Given the description of an element on the screen output the (x, y) to click on. 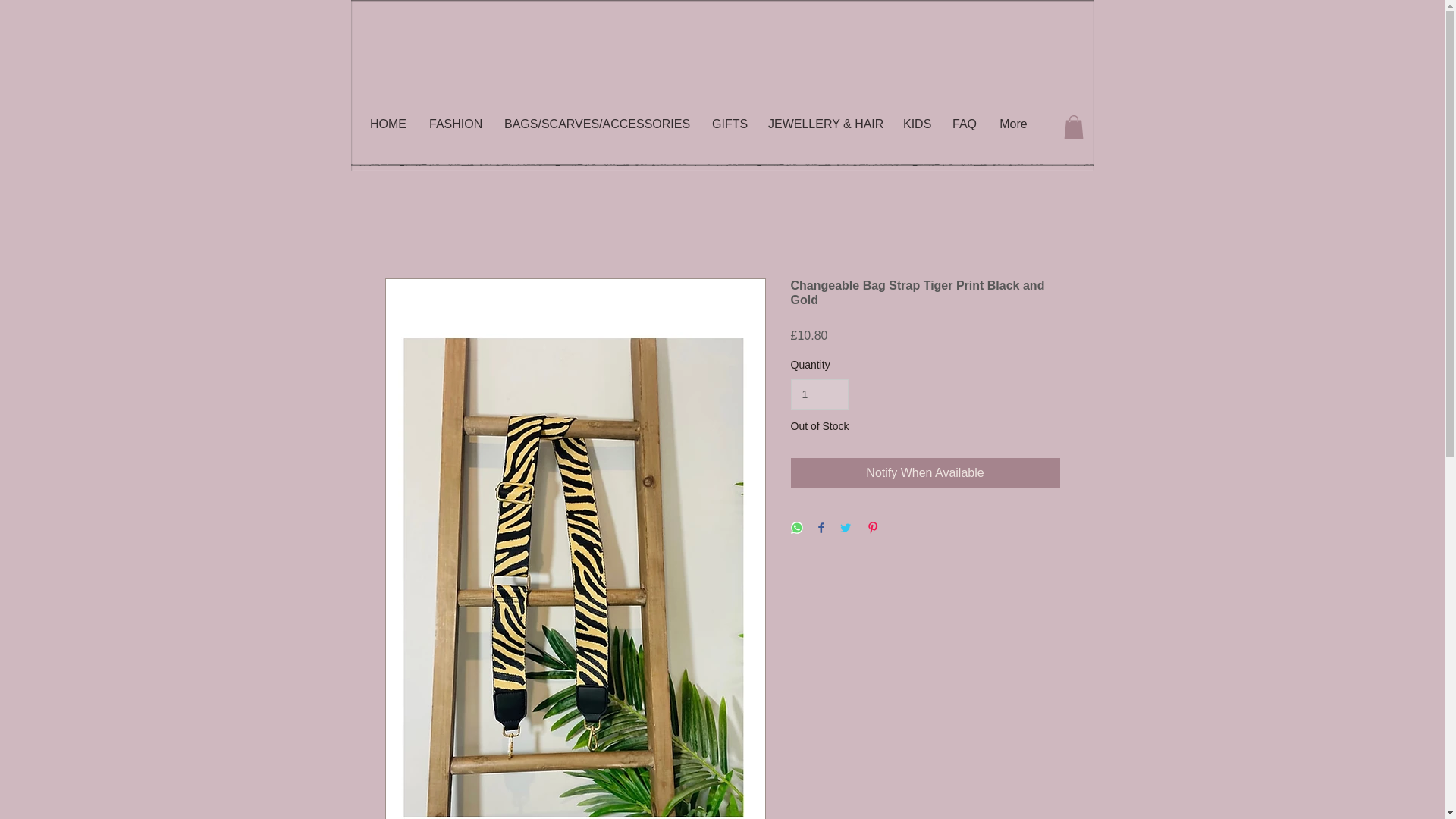
GIFTS (728, 124)
HOME (387, 124)
Notify When Available (924, 472)
KIDS (915, 124)
FASHION (455, 124)
1 (818, 394)
FAQ (963, 124)
